Given the description of an element on the screen output the (x, y) to click on. 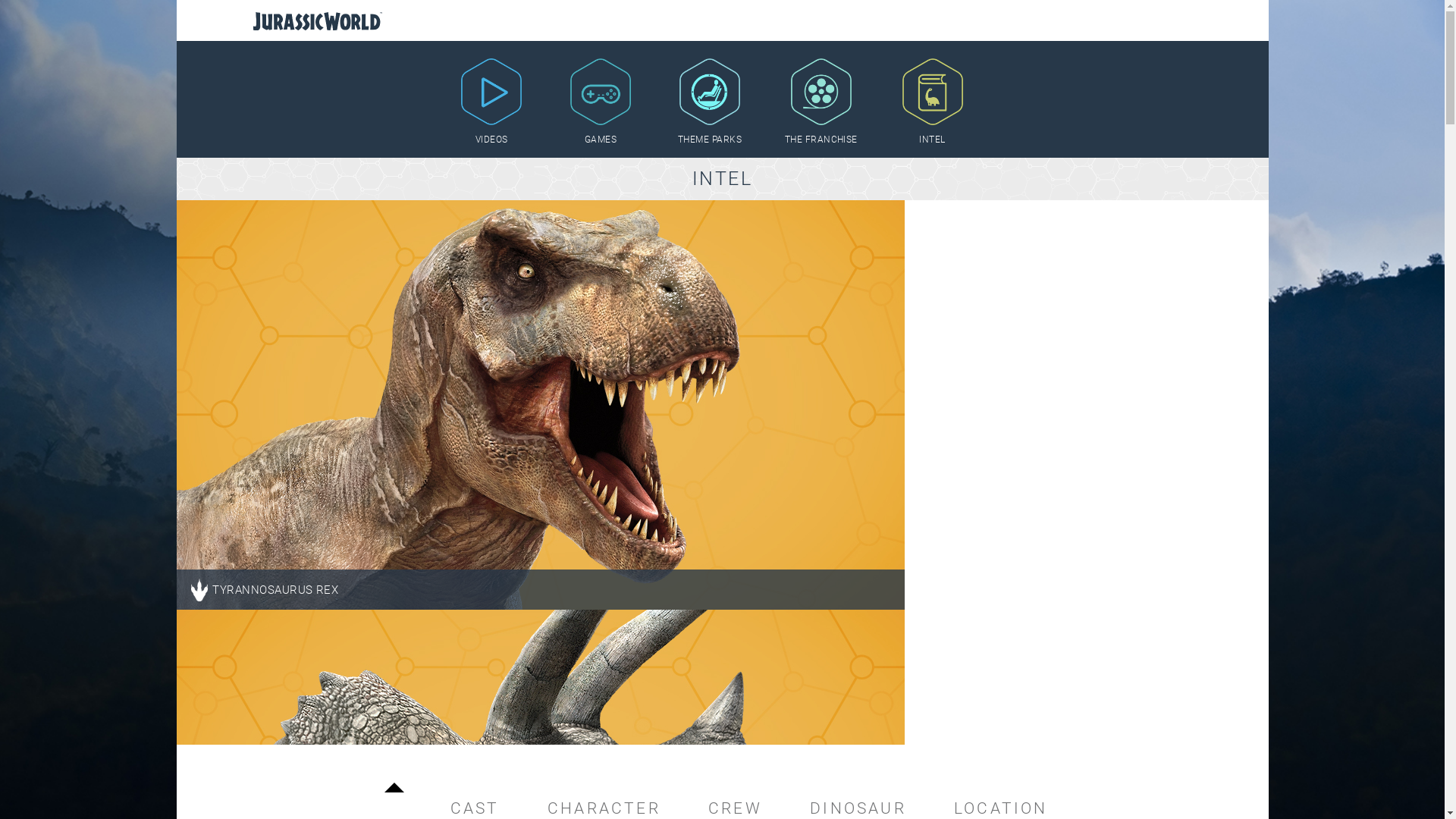
THE FRANCHISE Element type: text (820, 102)
TYRANNOSAURUS REX Element type: text (539, 404)
GAMES Element type: text (600, 102)
THEME PARKS Element type: text (709, 102)
INTEL Element type: text (932, 102)
VIDEOS Element type: text (491, 102)
